Given the description of an element on the screen output the (x, y) to click on. 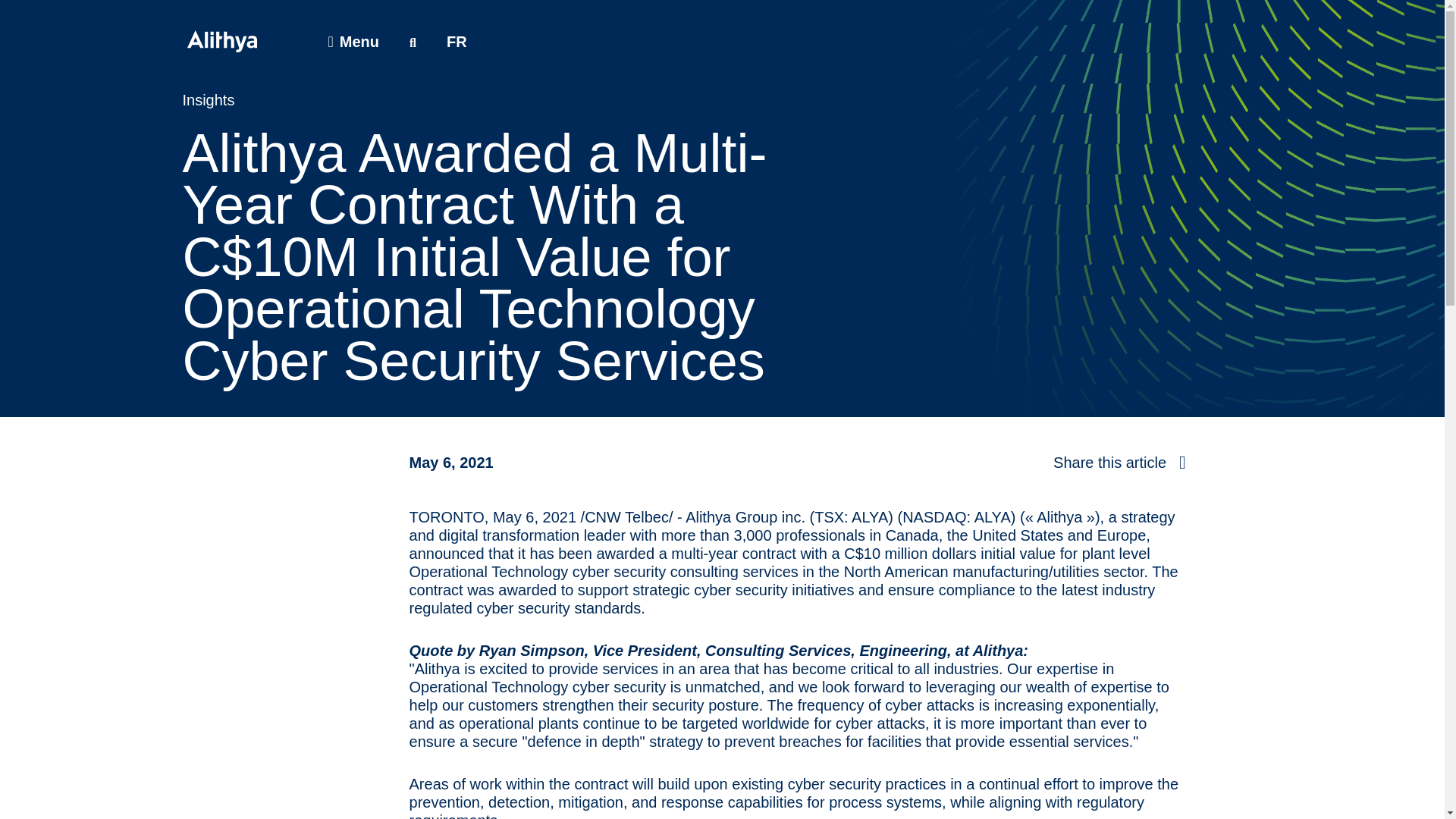
FR (456, 41)
Menu (352, 40)
